Given the description of an element on the screen output the (x, y) to click on. 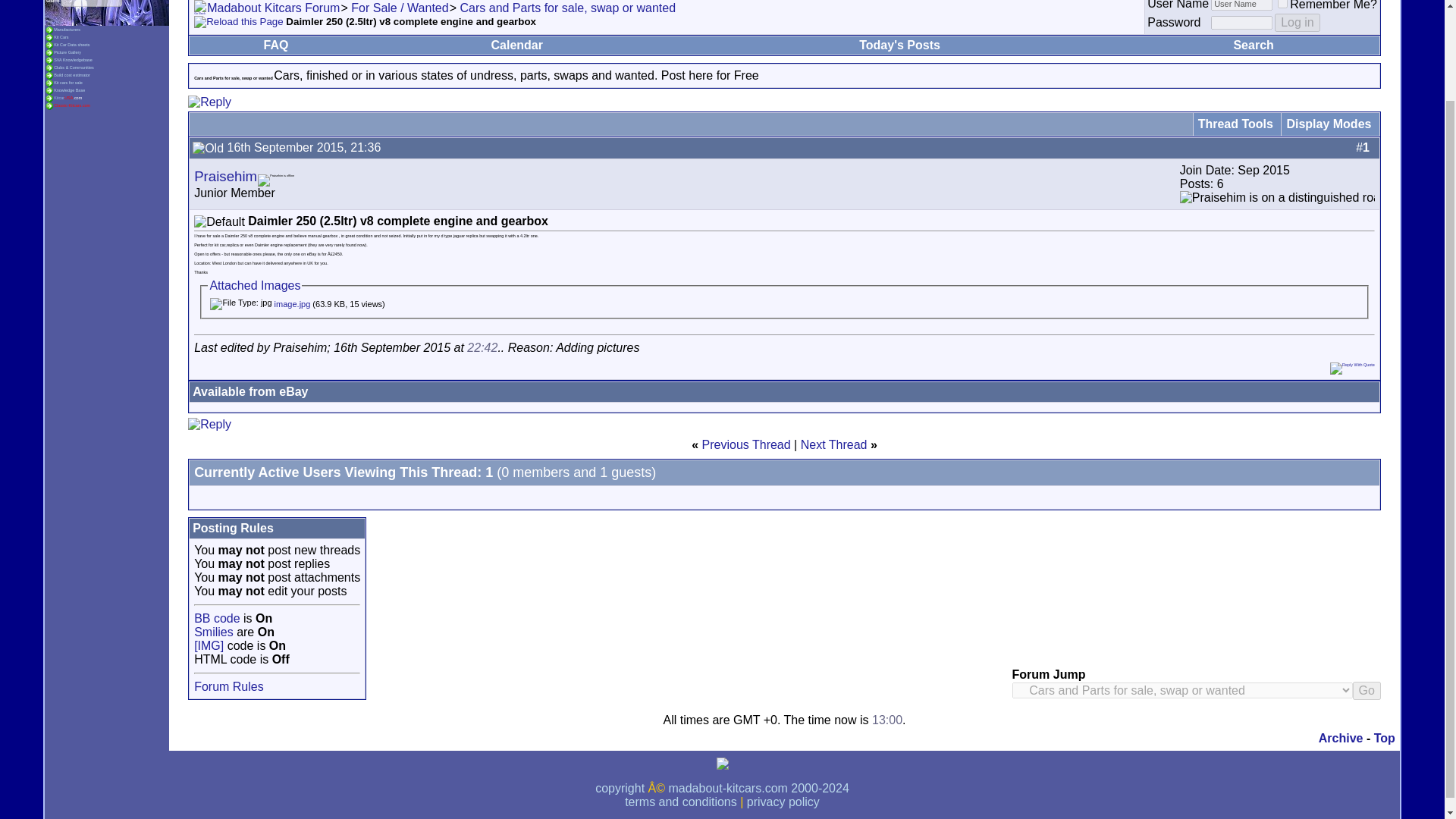
Kit Car Data sheets (70, 44)
Knowledge Base  (69, 89)
FAQ (275, 44)
Search (1252, 44)
KitcarUSA.com (67, 97)
Thread Tools (1235, 123)
Madabout Kitcars Forum (272, 7)
Today's Posts (899, 44)
Classic-Kitcars.com (71, 105)
Praisehim (225, 176)
1 (1282, 4)
